Given the description of an element on the screen output the (x, y) to click on. 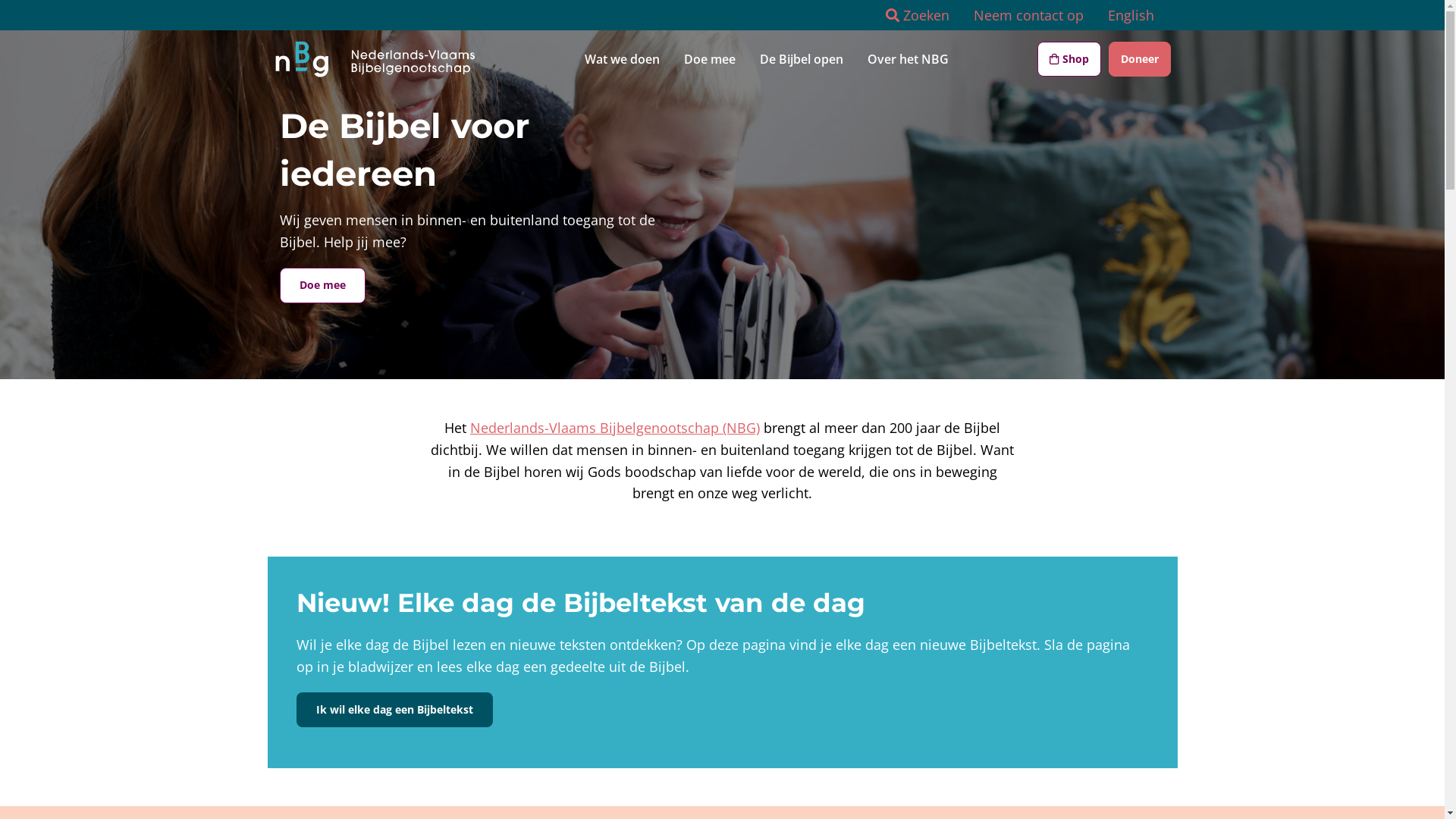
Doe mee Element type: text (321, 284)
De Bijbel open Element type: text (801, 58)
Doe mee Element type: text (709, 58)
Shop Element type: text (1069, 58)
Neem contact op Element type: text (1028, 15)
Wat we doen Element type: text (621, 58)
English Element type: text (1130, 15)
Ik wil elke dag een Bijbeltekst Element type: text (393, 709)
Nederlands-Vlaams Bijbelgenootschap (NBG) Element type: text (614, 427)
Over het NBG Element type: text (907, 58)
Doneer Element type: text (1139, 58)
Zoeken Element type: text (917, 15)
